Given the description of an element on the screen output the (x, y) to click on. 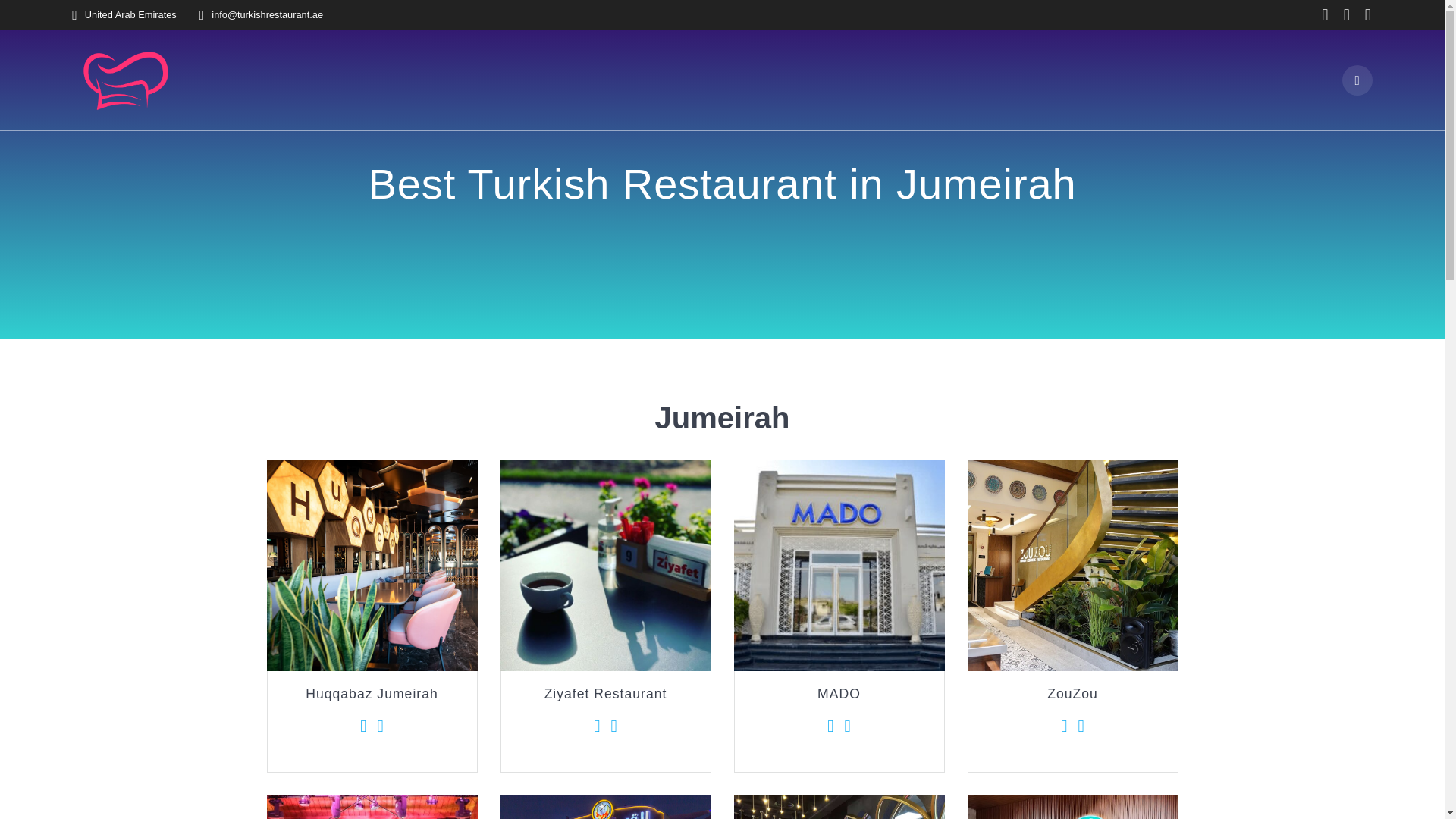
Beyoglu Baklava Dubai (1072, 807)
cropped-Bebek-Restaurant.jpg (838, 807)
Huqqabaz Jumeirah (371, 565)
Mado Jumeirah (838, 565)
Ziyafet Turkish Restaurant (605, 565)
ZouZou Jumeirah Turkish Restaurant (1072, 565)
Hesapsiz Meyhane Dubai (371, 807)
Turkish Village Restaurant (605, 807)
